Given the description of an element on the screen output the (x, y) to click on. 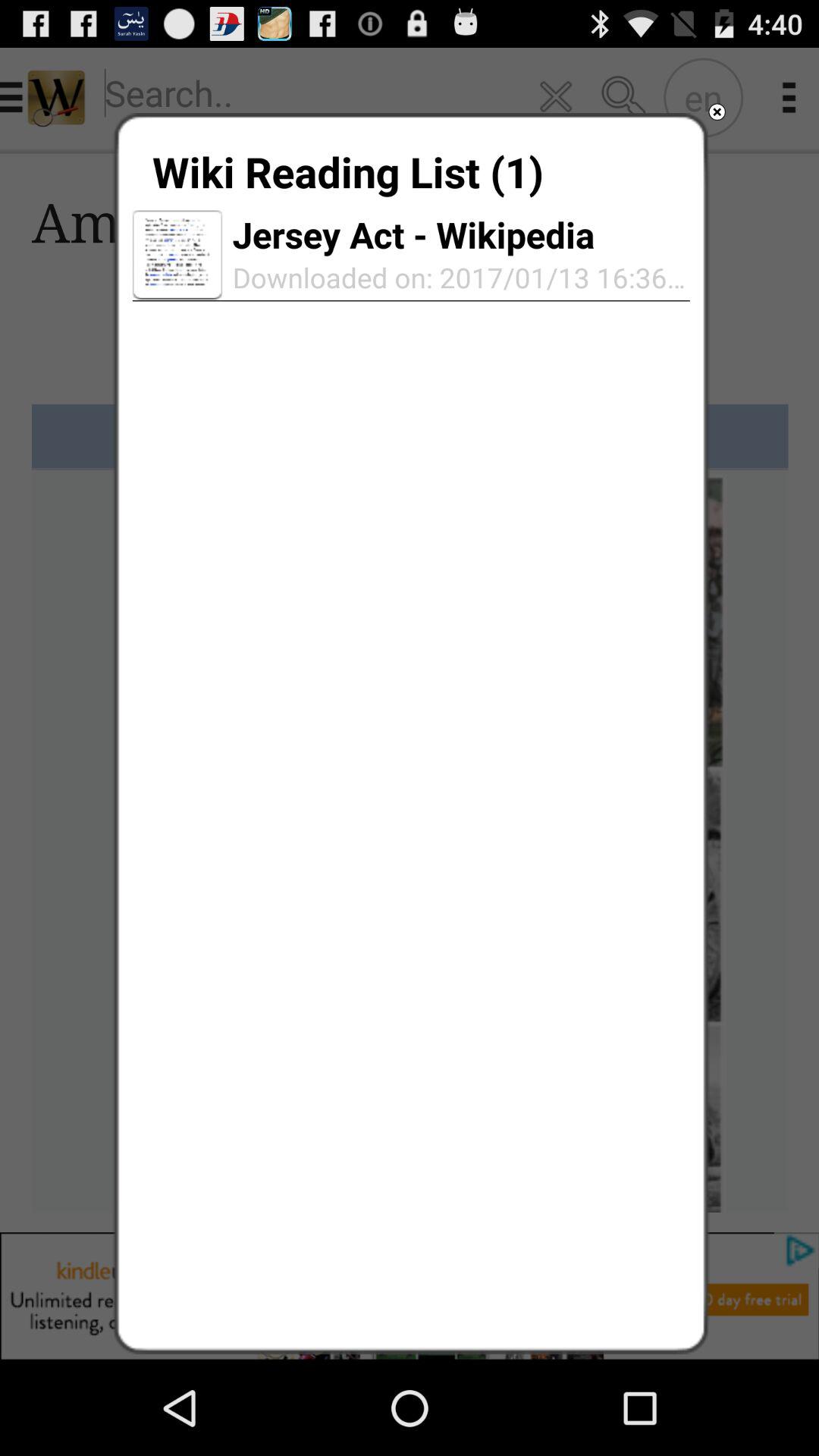
choose jersey act - wikipedia item (413, 234)
